Given the description of an element on the screen output the (x, y) to click on. 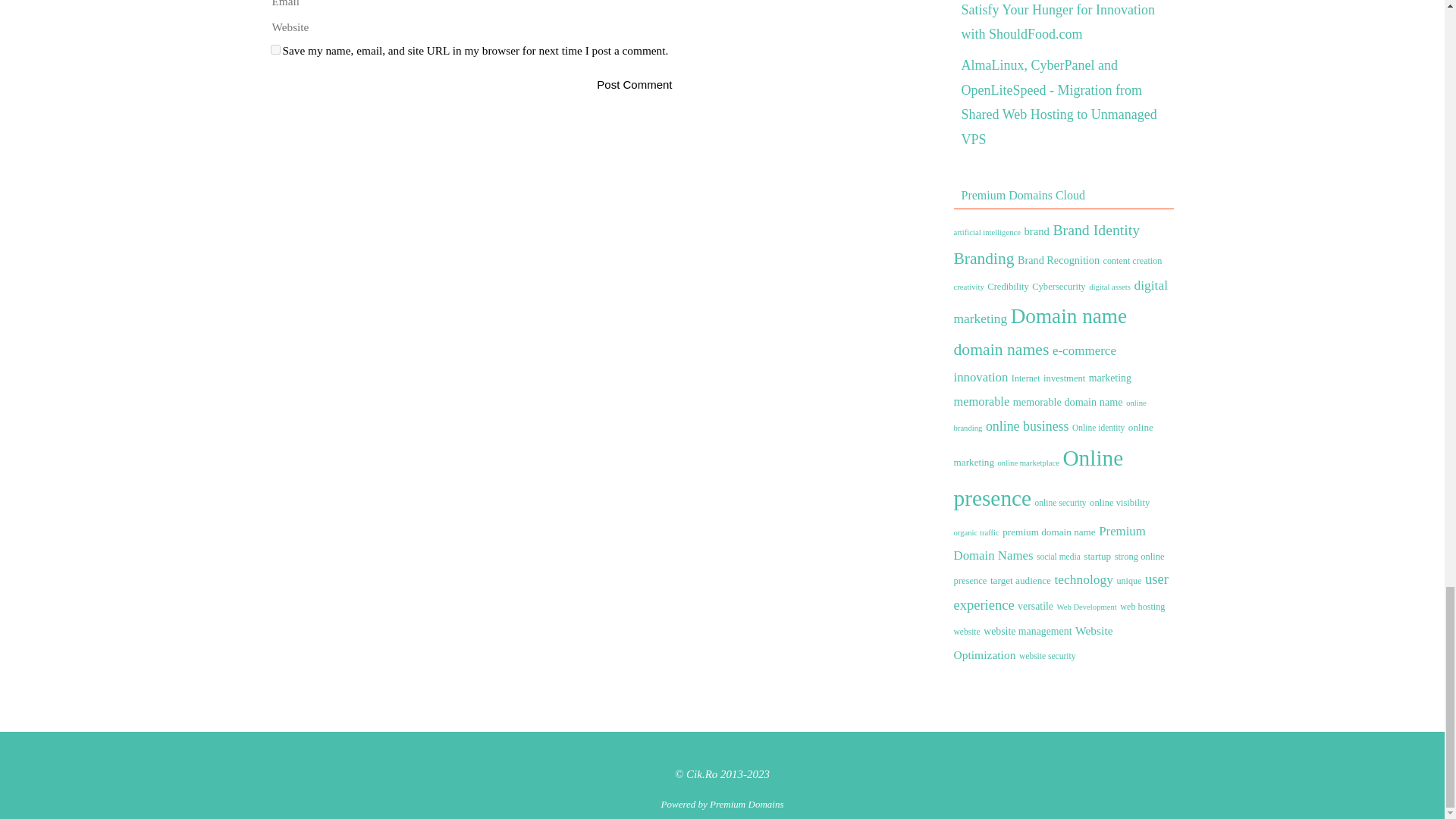
Post Comment (634, 84)
yes (274, 49)
